Given the description of an element on the screen output the (x, y) to click on. 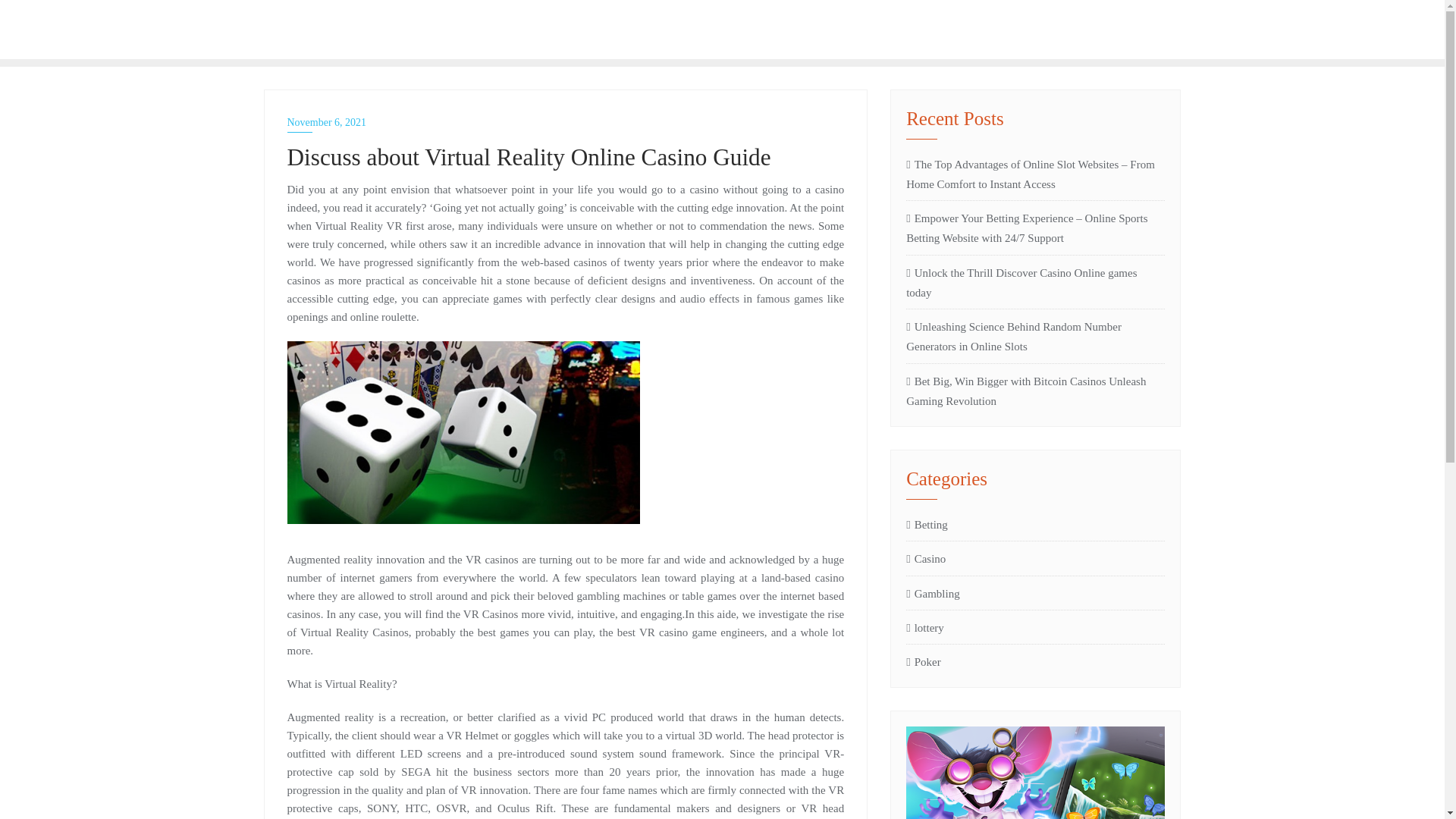
Casino (924, 558)
Unlock the Thrill Discover Casino Online games today (1034, 282)
November 6, 2021 (565, 122)
Poker (922, 661)
Gambling (932, 593)
lottery (924, 628)
Betting (362, 29)
